Given the description of an element on the screen output the (x, y) to click on. 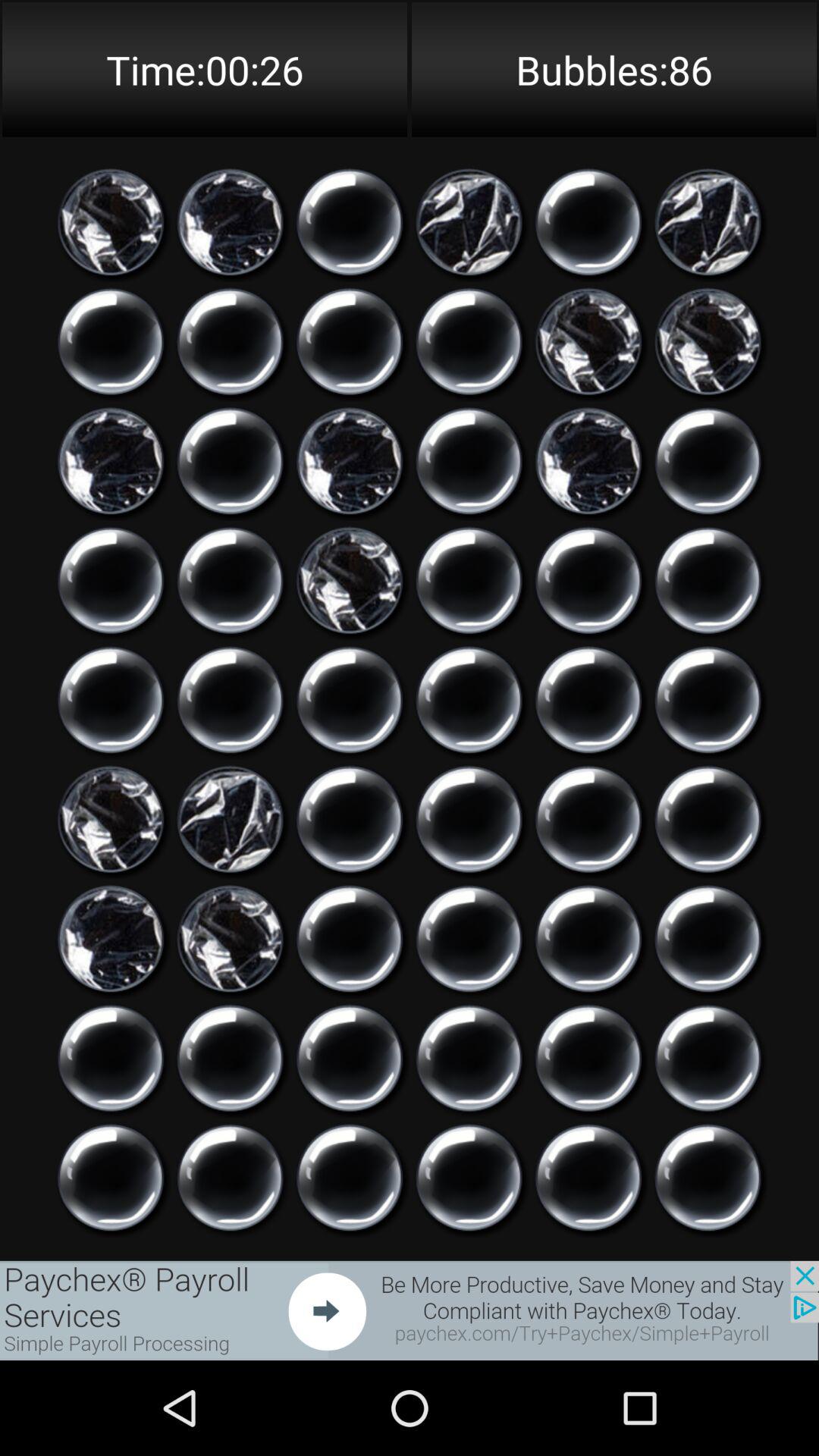
option (707, 938)
